Given the description of an element on the screen output the (x, y) to click on. 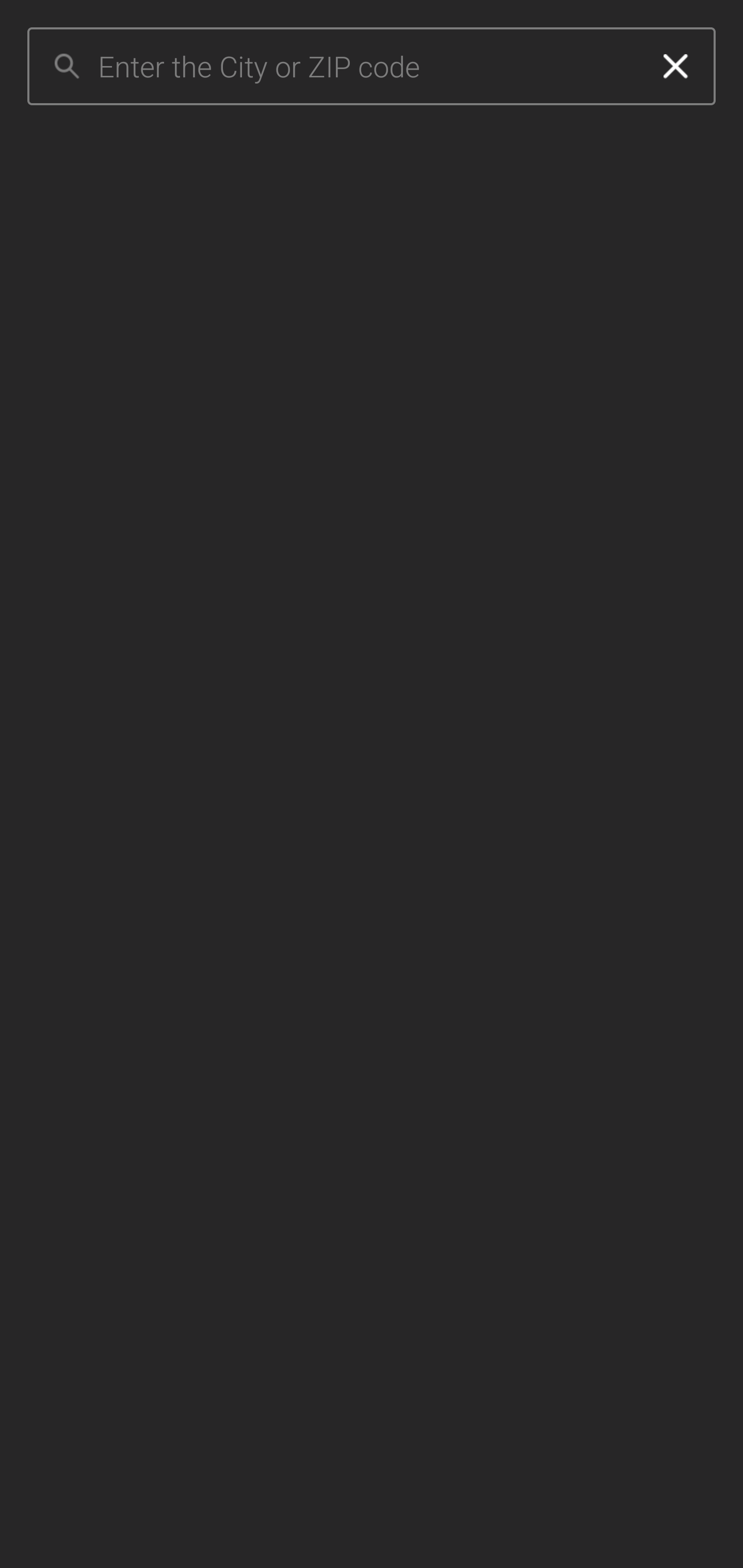
Enter the City or ZIP code (367, 66)
